Given the description of an element on the screen output the (x, y) to click on. 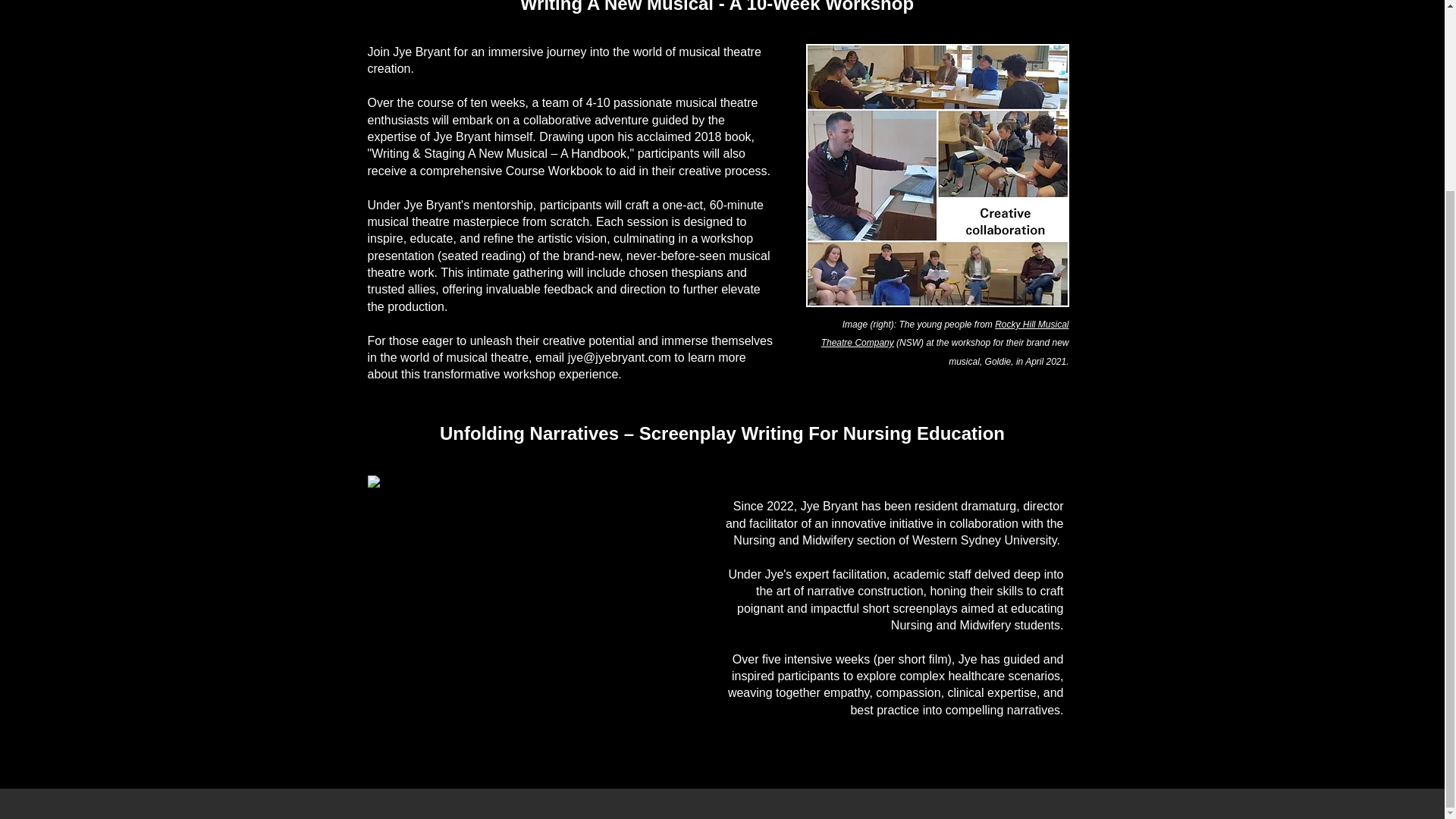
Rocky Hill Musical Theatre Company (944, 333)
